Given the description of an element on the screen output the (x, y) to click on. 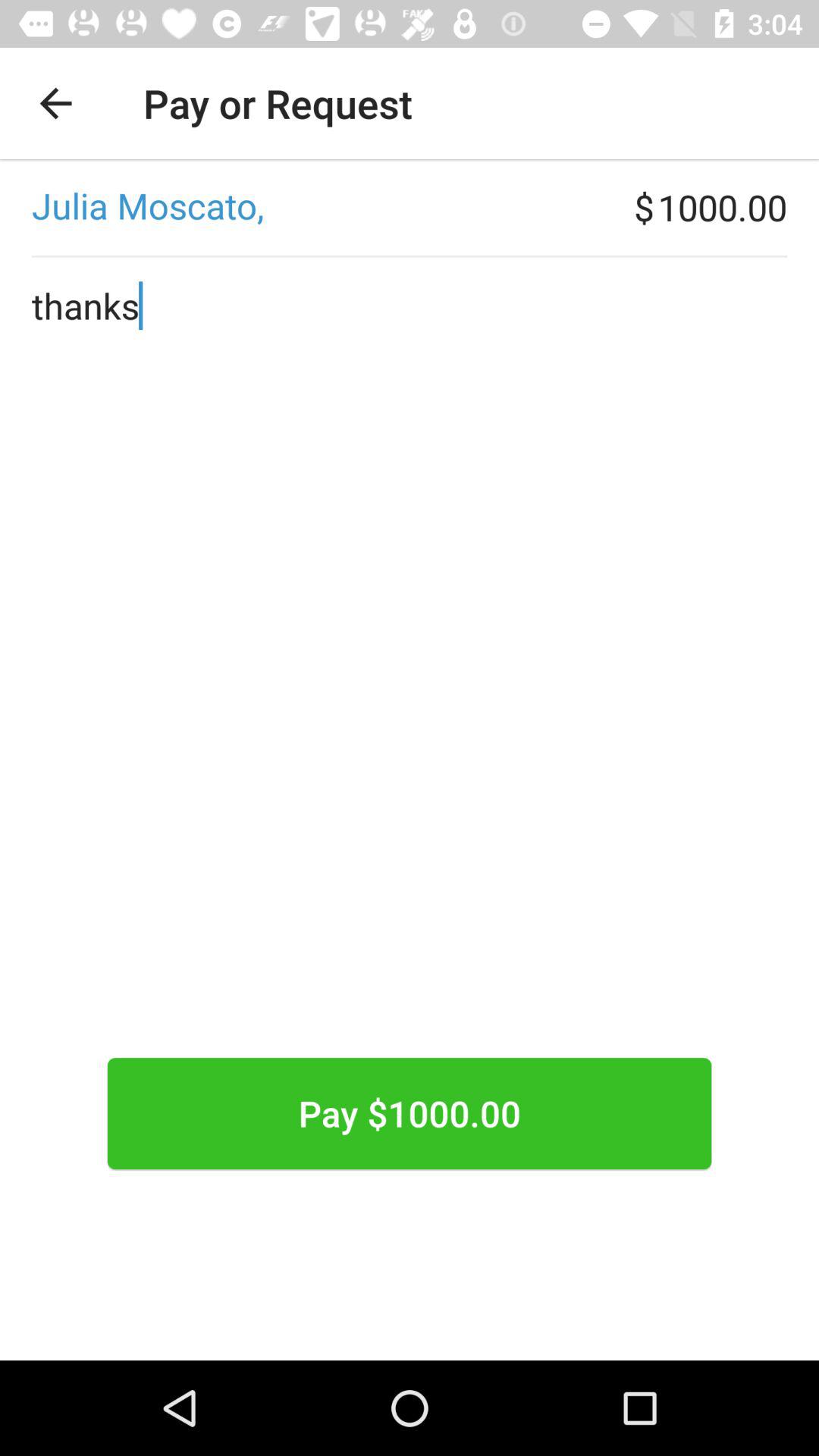
press the icon to the left of $ (317, 207)
